Given the description of an element on the screen output the (x, y) to click on. 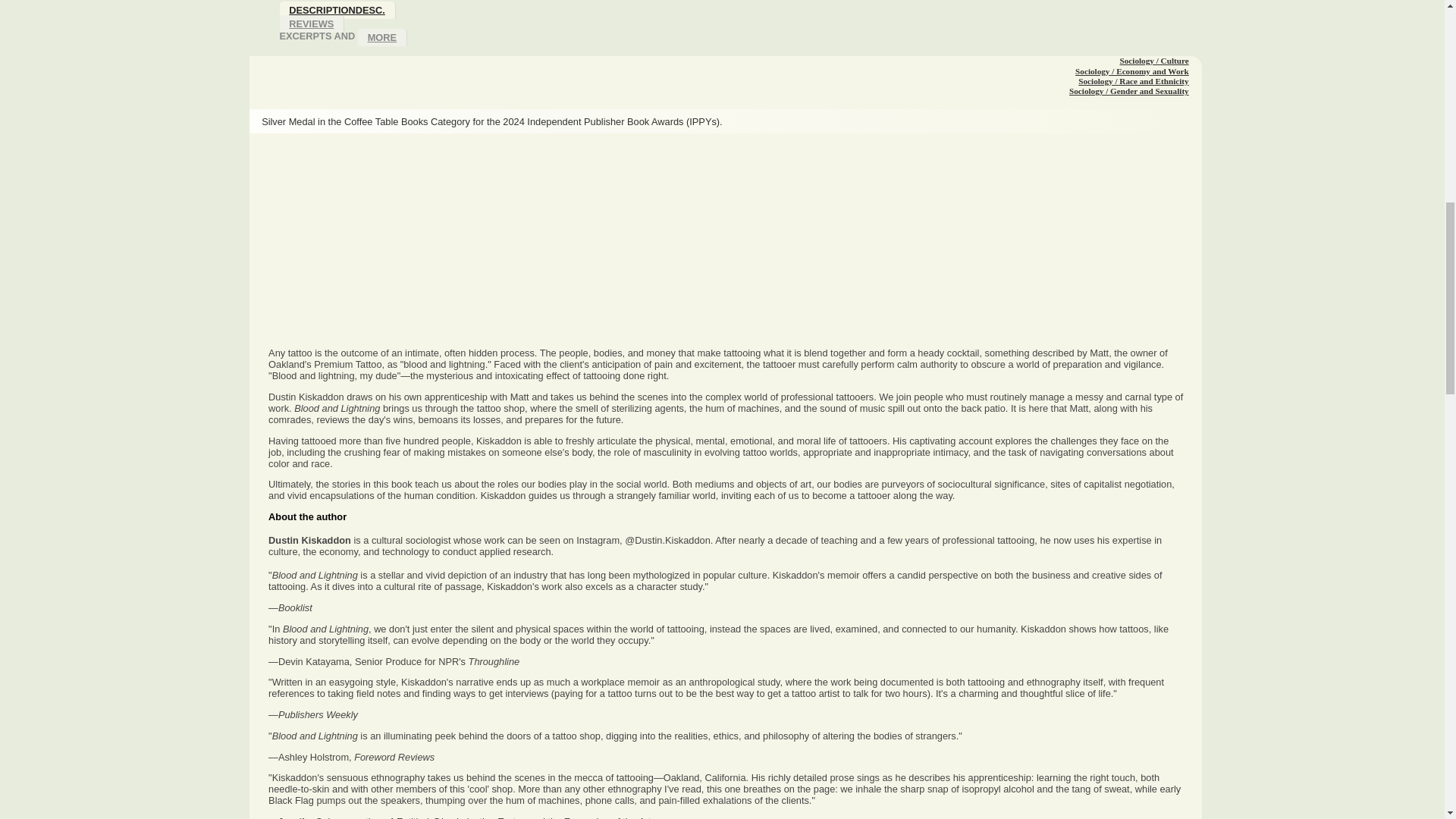
DESCRIPTIONDESC. (336, 9)
REVIEWS (311, 23)
